Given the description of an element on the screen output the (x, y) to click on. 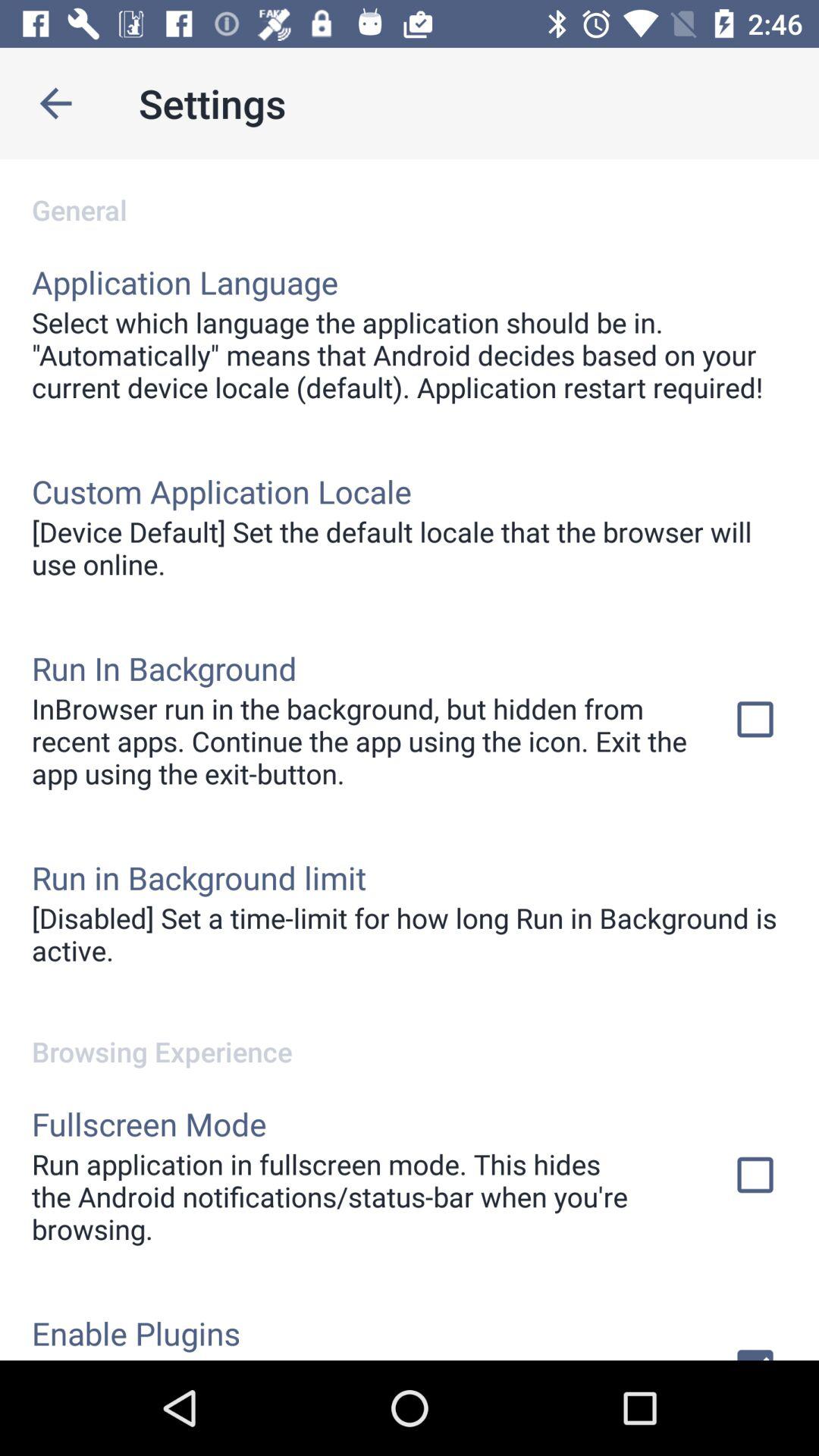
turn off the app above general app (55, 103)
